Given the description of an element on the screen output the (x, y) to click on. 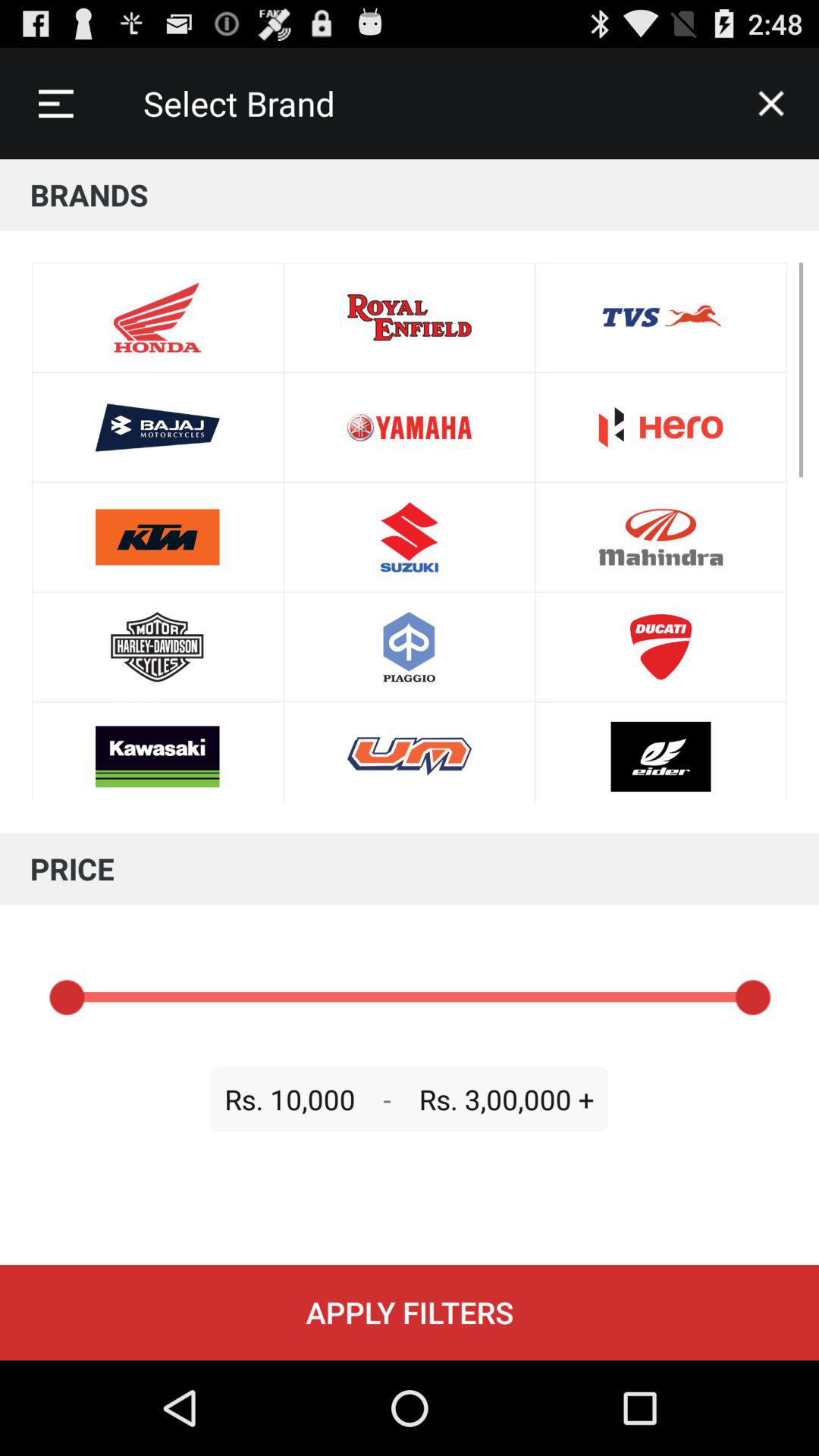
choose item next to the select brand icon (55, 103)
